Given the description of an element on the screen output the (x, y) to click on. 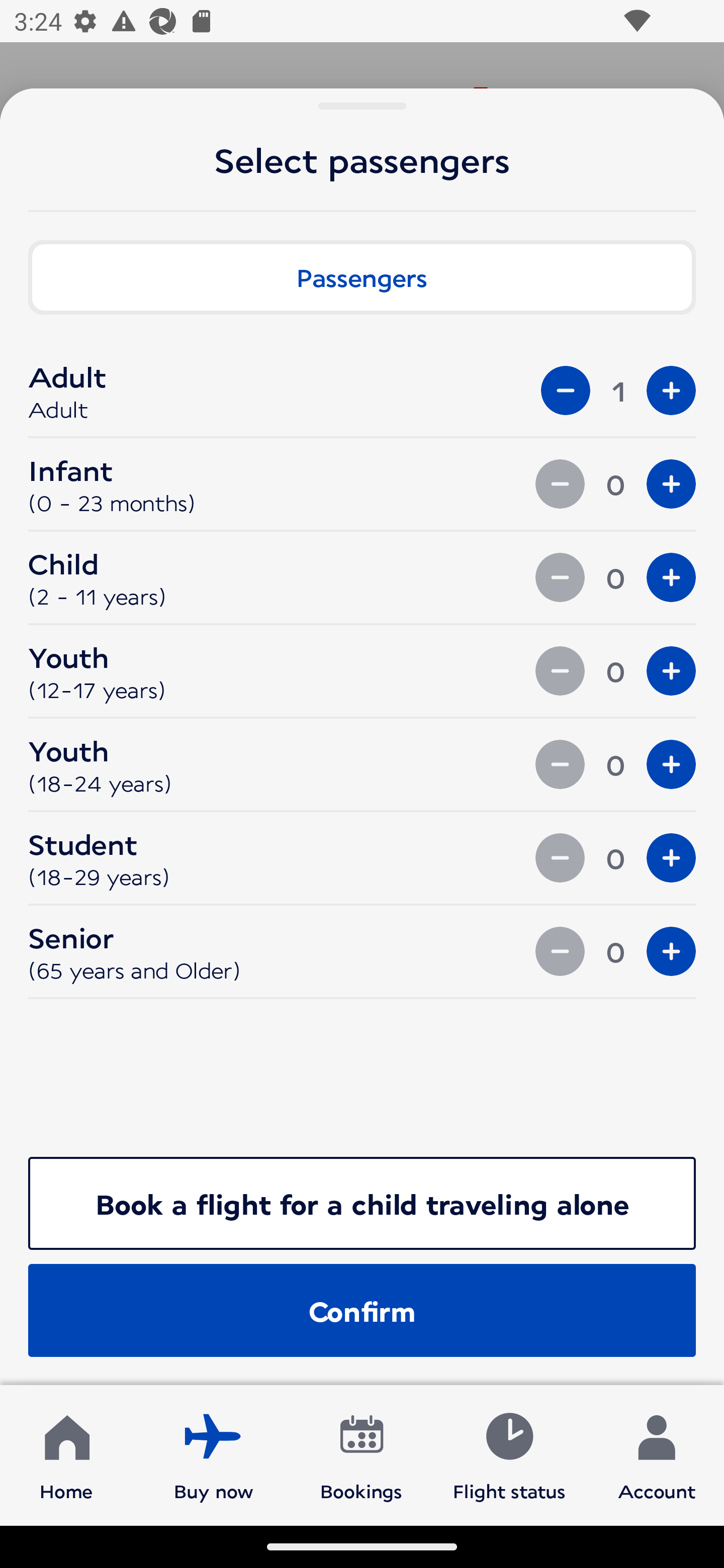
Passengers (361, 277)
Book a flight for a child traveling alone (361, 1203)
Confirm (361, 1309)
Home (66, 1454)
Bookings (361, 1454)
Flight status (509, 1454)
Account (657, 1454)
